Given the description of an element on the screen output the (x, y) to click on. 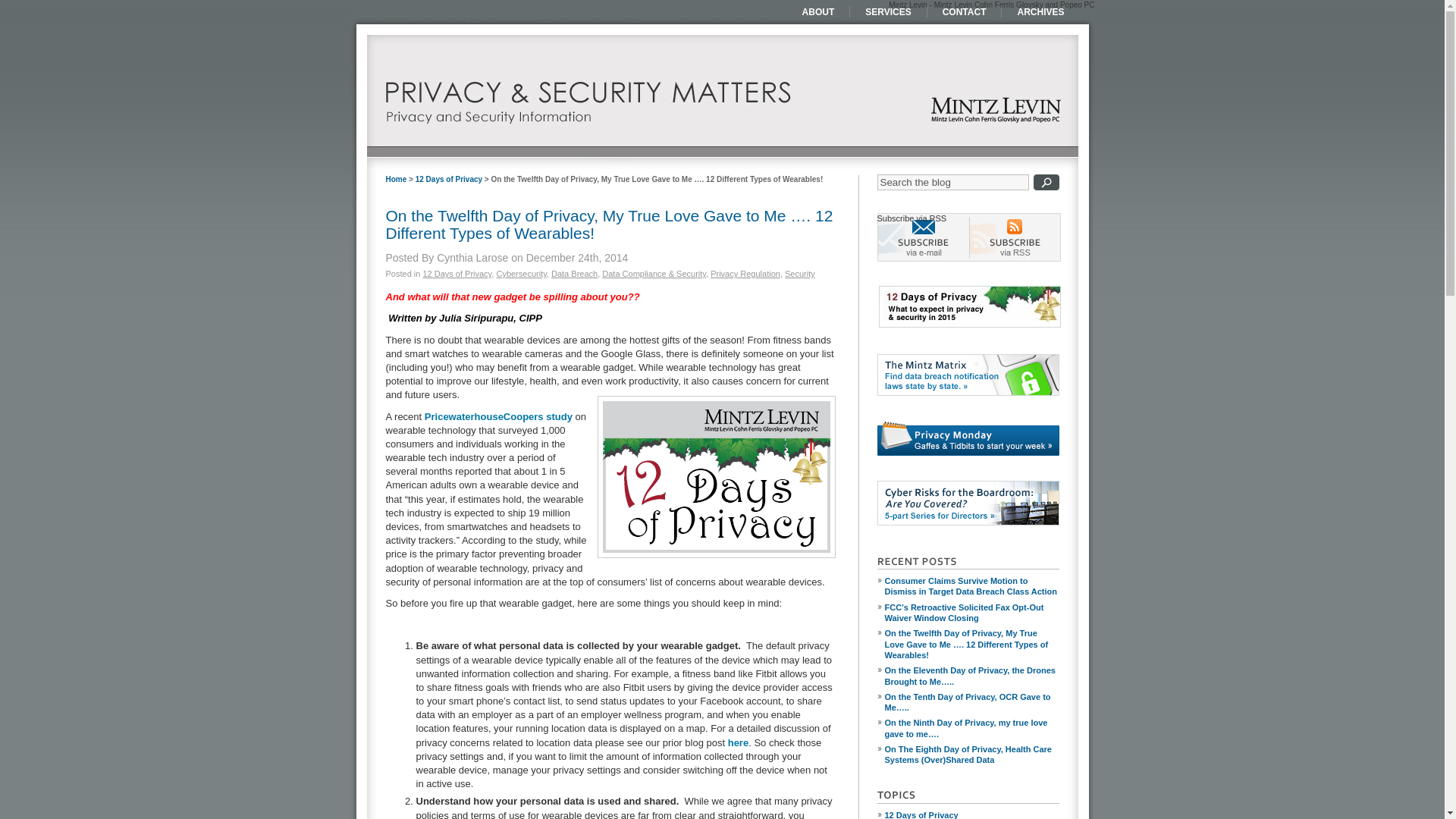
View all posts in Security (799, 273)
Cybersecurity (521, 273)
12 Days of Privacy (457, 273)
Subscribe via e-mail (922, 236)
View all posts filed under 12 Days of Privacy (970, 813)
View all posts in Privacy Regulation (745, 273)
SERVICES (888, 11)
Home (395, 179)
View all posts in 12 Days of Privacy (457, 273)
ABOUT (818, 11)
